Given the description of an element on the screen output the (x, y) to click on. 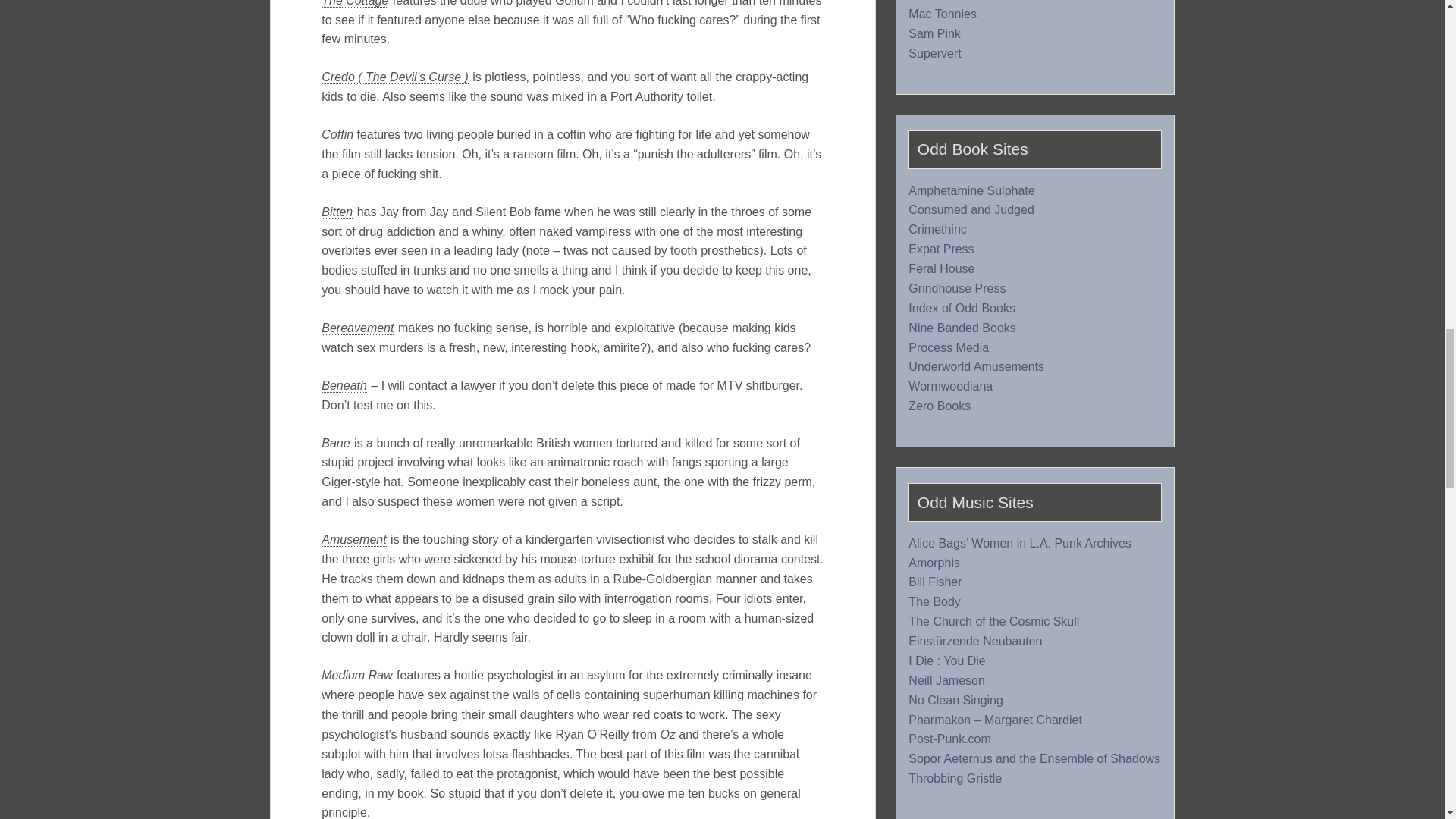
Medium Raw (356, 675)
Bane (335, 443)
Amusement (353, 540)
Bitten (336, 212)
Beneath (343, 386)
The Cottage (354, 3)
Bereavement (357, 327)
